Given the description of an element on the screen output the (x, y) to click on. 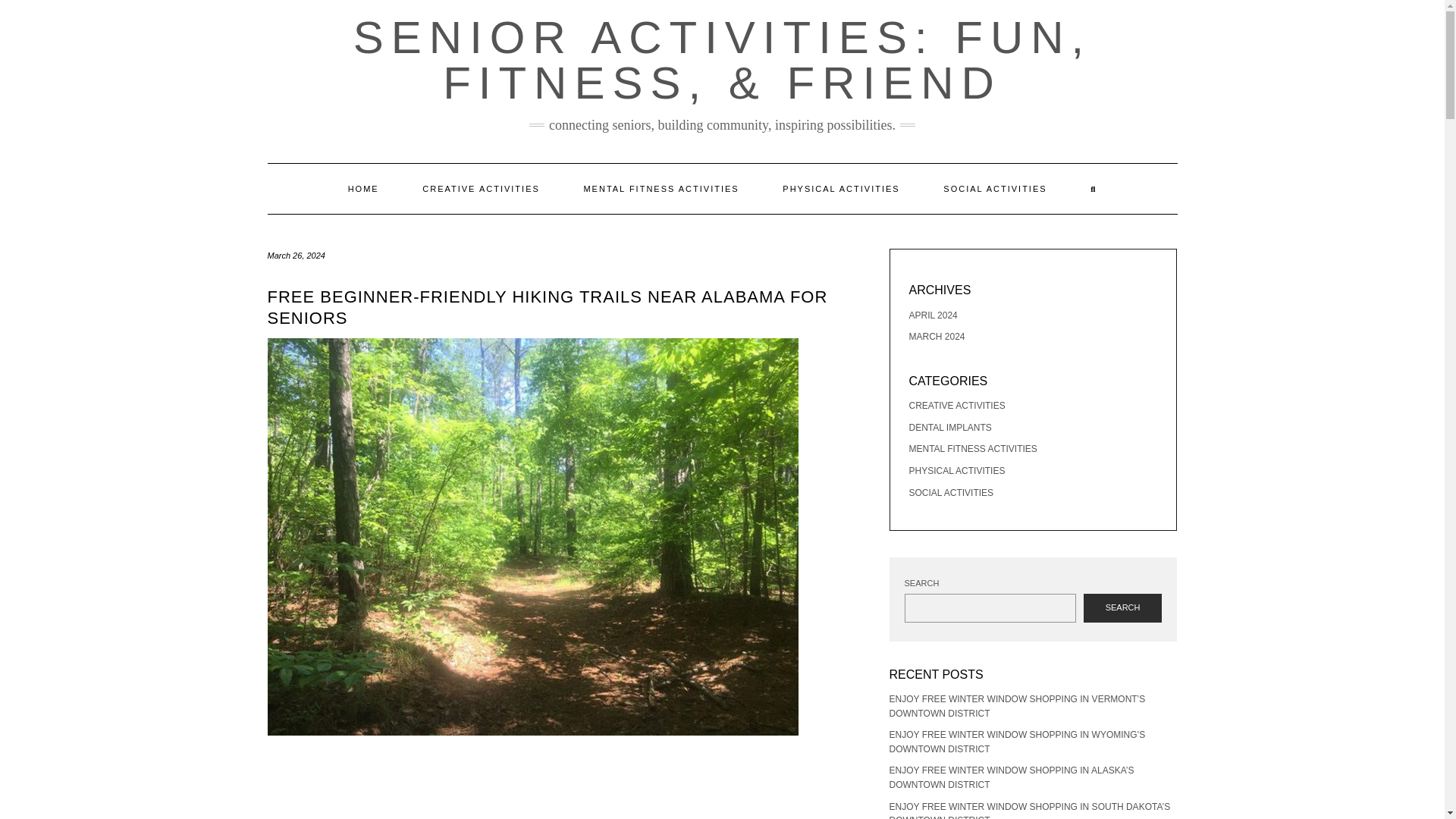
CREATIVE ACTIVITIES (480, 188)
Advertisement (566, 786)
HOME (362, 188)
PHYSICAL ACTIVITIES (840, 188)
SOCIAL ACTIVITIES (995, 188)
MENTAL FITNESS ACTIVITIES (972, 448)
DENTAL IMPLANTS (949, 427)
CREATIVE ACTIVITIES (956, 405)
MENTAL FITNESS ACTIVITIES (660, 188)
SEARCH (1122, 607)
SOCIAL ACTIVITIES (950, 492)
PHYSICAL ACTIVITIES (956, 470)
MARCH 2024 (935, 336)
APRIL 2024 (932, 315)
